Given the description of an element on the screen output the (x, y) to click on. 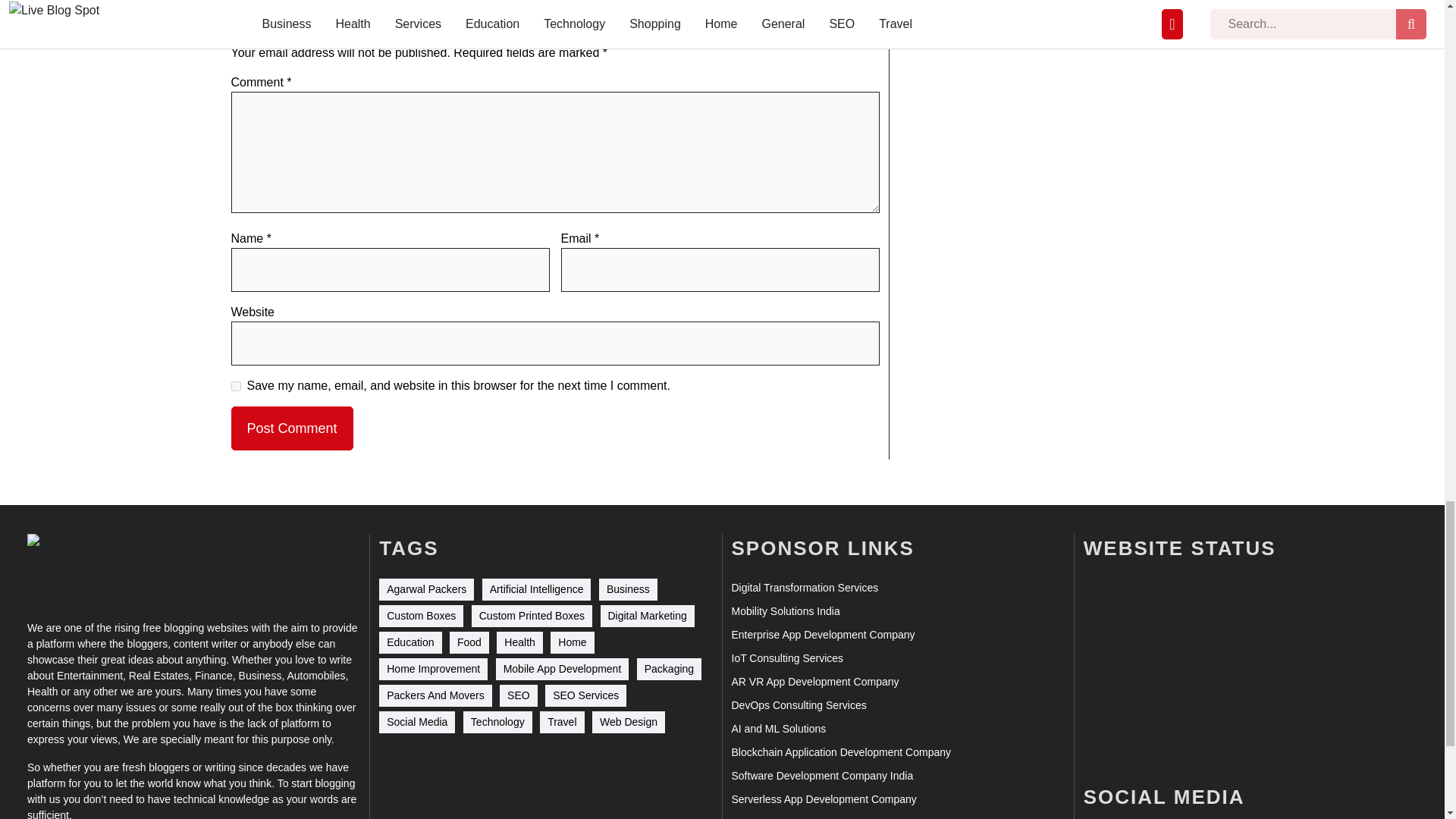
IoT Consulting Services (786, 658)
AR VR App Development Company (814, 682)
DevOps Consulting Services (798, 705)
yes (235, 386)
Enterprise App Development Company (822, 634)
Post Comment (291, 428)
Mobility Solutions India (785, 611)
Post Comment (291, 428)
Live Blog Spot (81, 567)
Digital Transformation Services (803, 587)
